Given the description of an element on the screen output the (x, y) to click on. 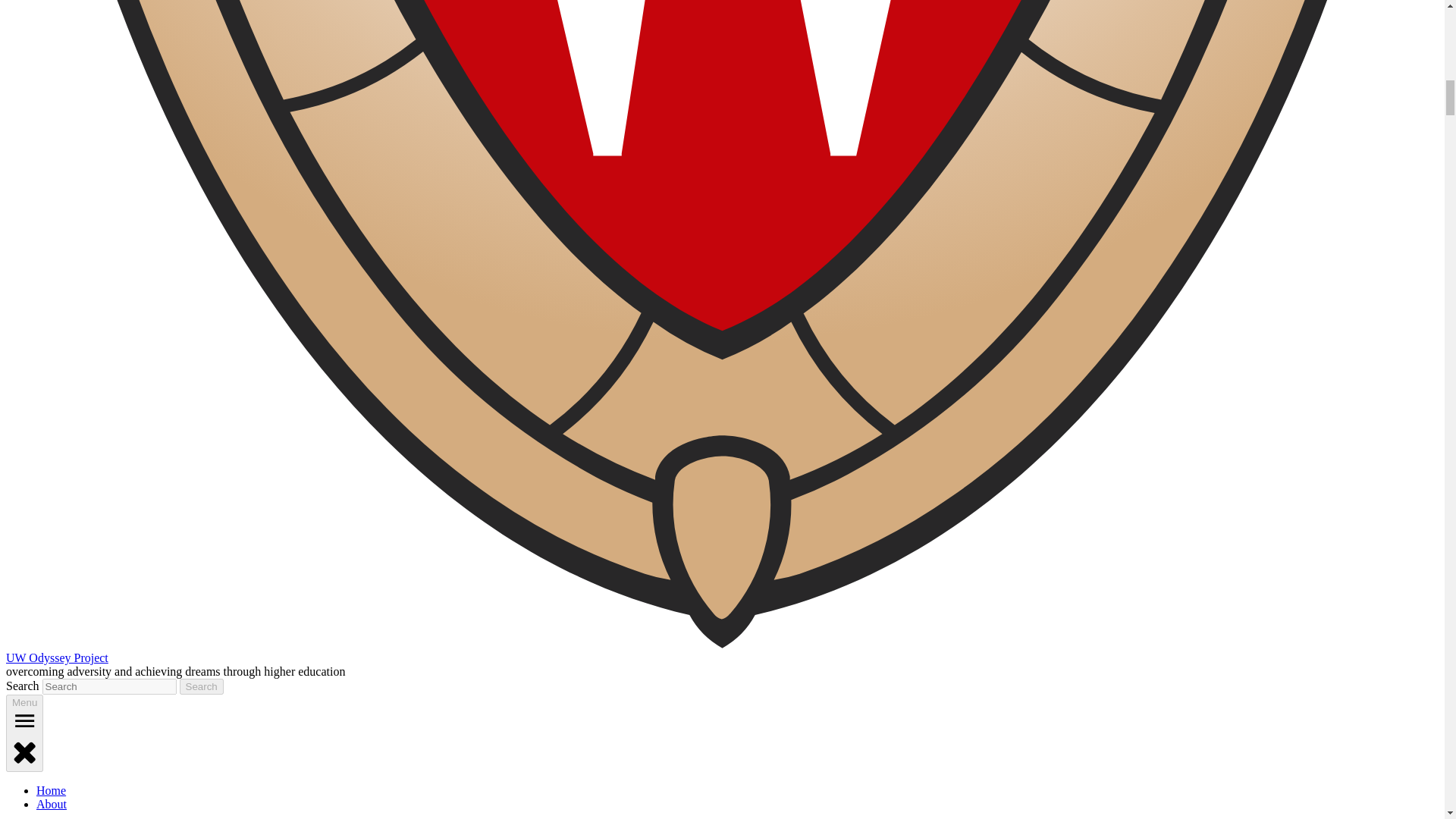
Home (50, 789)
Search (201, 686)
open menu (24, 720)
UW Odyssey Project (56, 657)
Search (201, 686)
Search (201, 686)
